Given the description of an element on the screen output the (x, y) to click on. 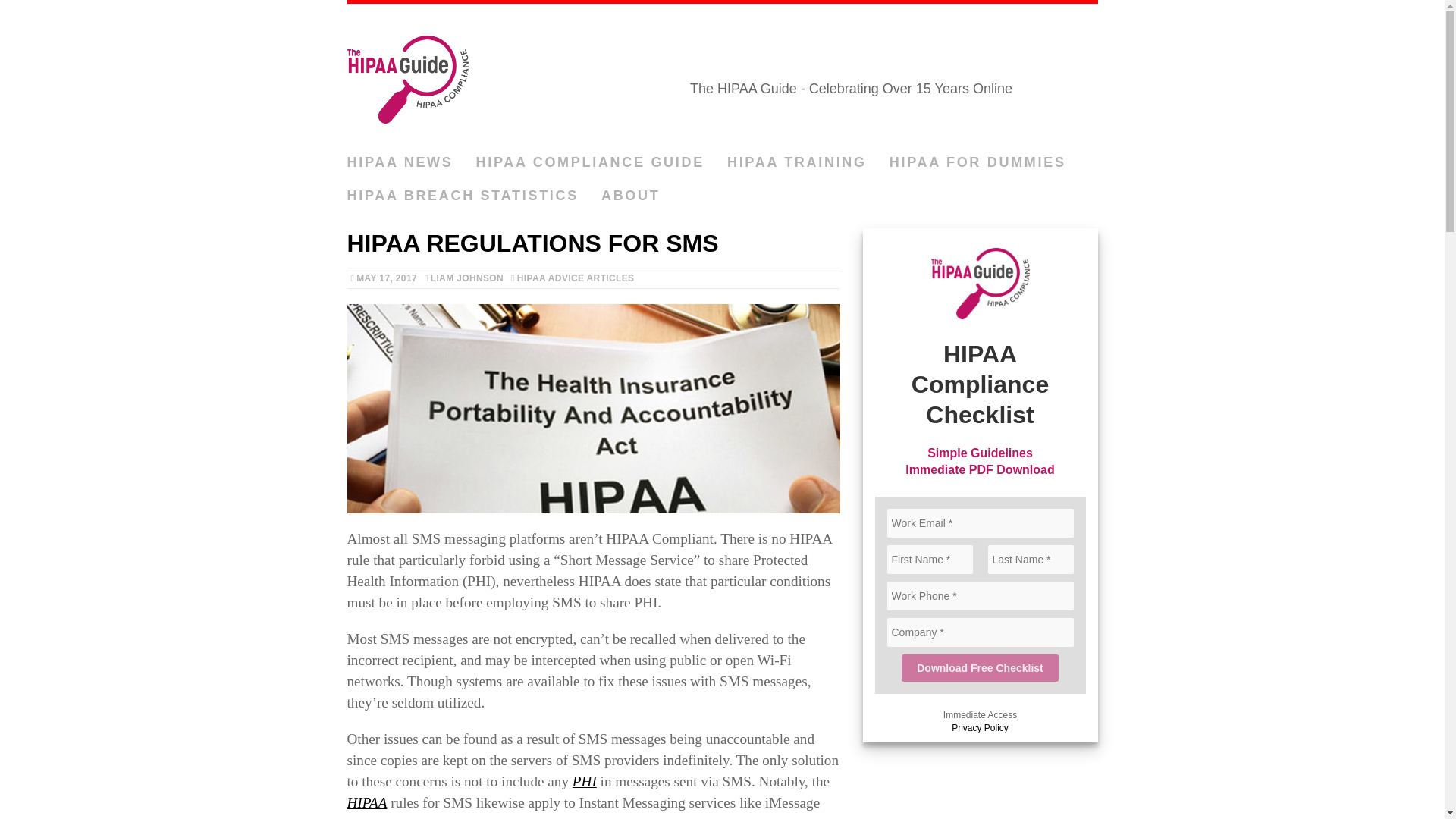
HIPAA (367, 802)
HIPAA NEWS (399, 162)
PHI (584, 781)
Posts by Liam Johnson (466, 277)
HIPAA TRAINING (796, 162)
HIPAA COMPLIANCE GUIDE (590, 162)
default (593, 408)
The HIPAA Guide (722, 75)
